Given the description of an element on the screen output the (x, y) to click on. 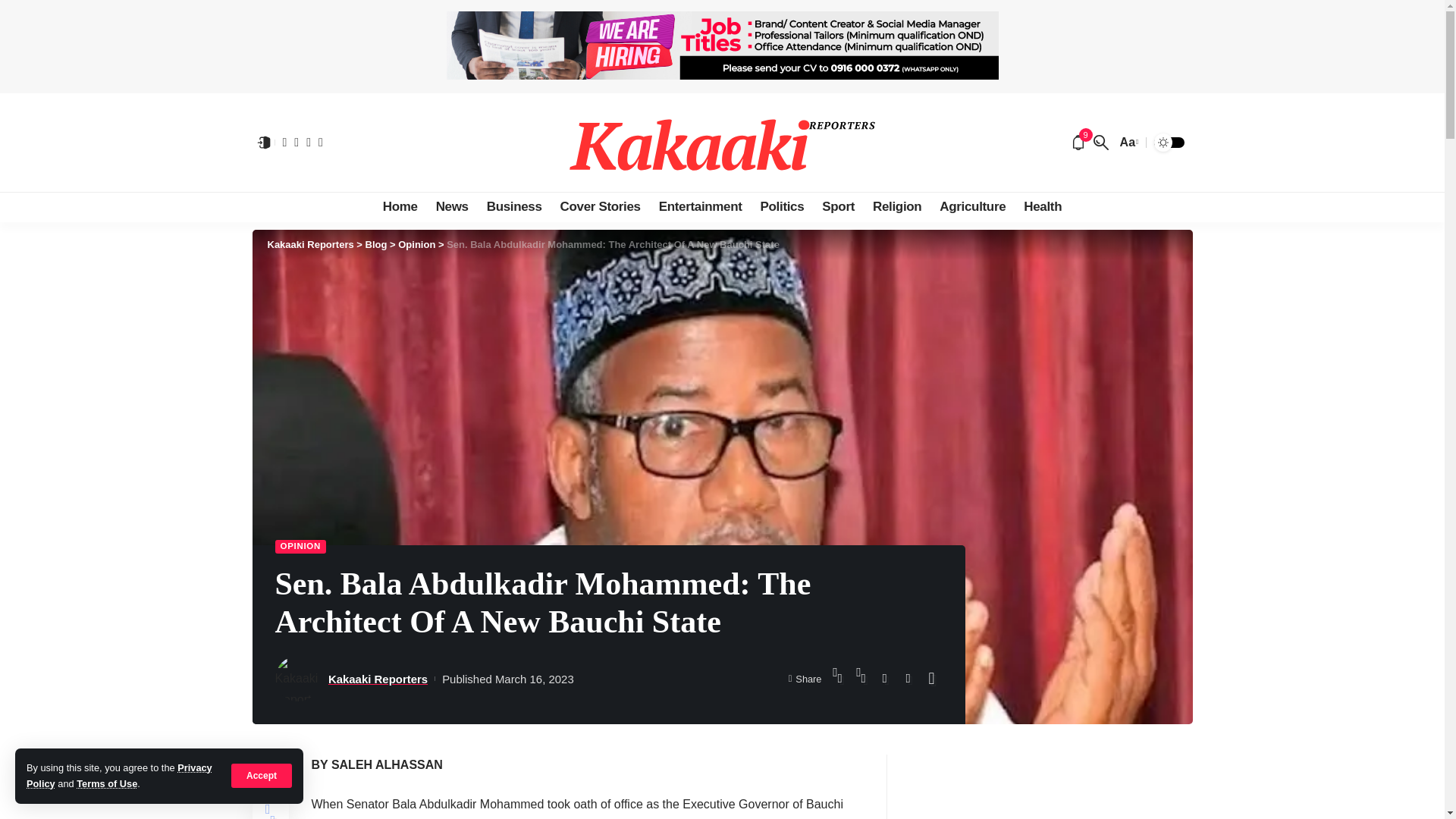
Accept (261, 775)
Terms of Use (106, 783)
9 (1078, 142)
Privacy Policy (119, 775)
Go to Blog. (376, 244)
Go to the Opinion Category archives. (416, 244)
Kakaaki Reporters (721, 142)
Go to Kakaaki Reporters. (309, 244)
